Given the description of an element on the screen output the (x, y) to click on. 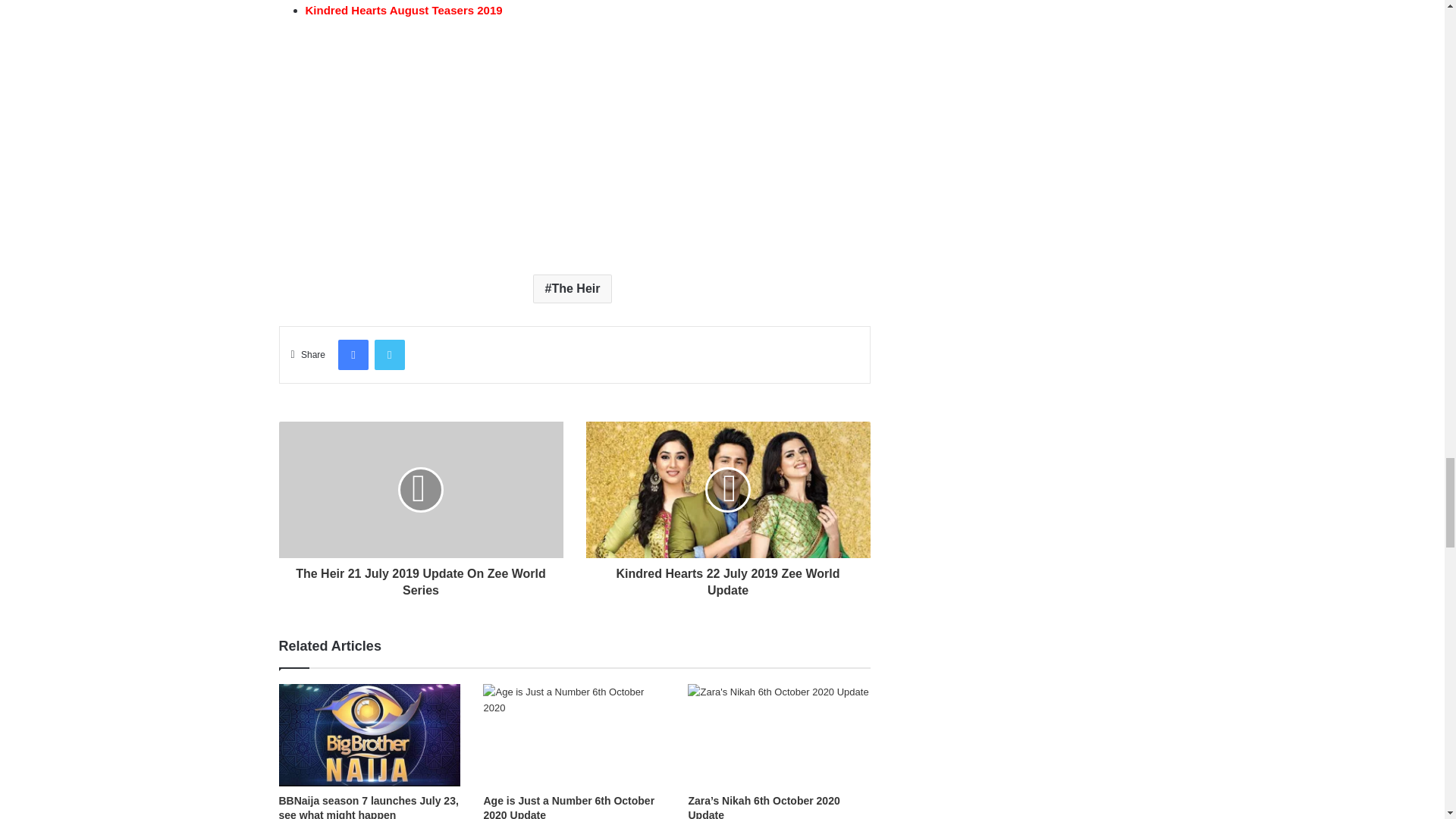
Facebook (352, 354)
Age is Just a Number 6th October 2020 Update (568, 806)
Zara's Nikah 6th October 2020 Update (778, 734)
Kindred Hearts 22 July 2019 Zee World Update (727, 577)
Twitter (389, 354)
Twitter (389, 354)
Kindred Hearts August Teasers 2019 (403, 10)
Facebook (352, 354)
The Heir (572, 288)
The Heir 21 July 2019 Update On Zee World Series (421, 577)
Age is Just a Number 6th October 2020 (574, 734)
BBNaija season 7 launches July 23, see what might happen (368, 806)
BBNaija season 7 launches July 23, see what might happen (370, 734)
